Given the description of an element on the screen output the (x, y) to click on. 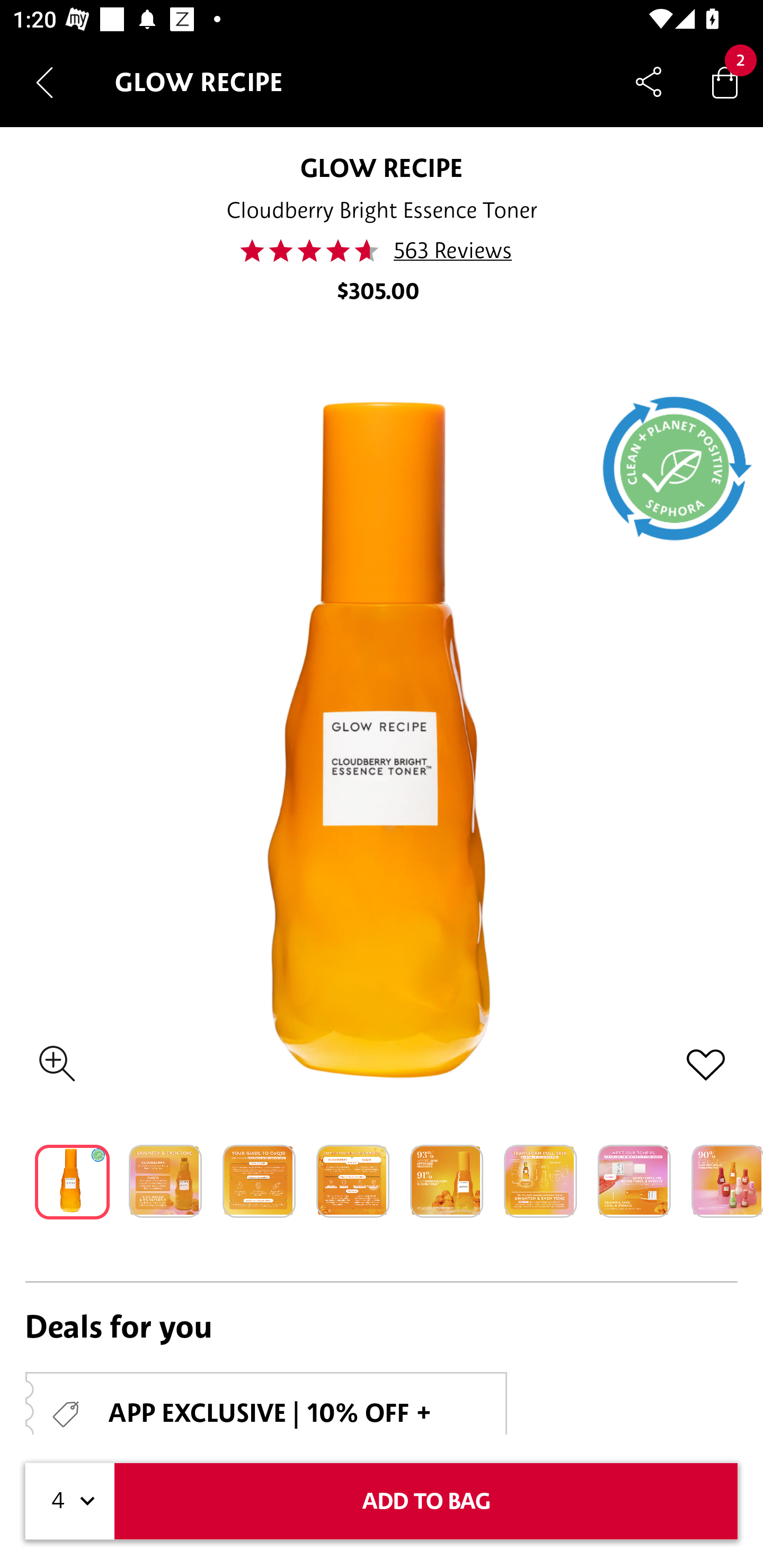
Navigate up (44, 82)
Share (648, 81)
Bag (724, 81)
GLOW RECIPE (381, 167)
46.0 563 Reviews (381, 250)
4 (69, 1500)
ADD TO BAG (425, 1500)
